Given the description of an element on the screen output the (x, y) to click on. 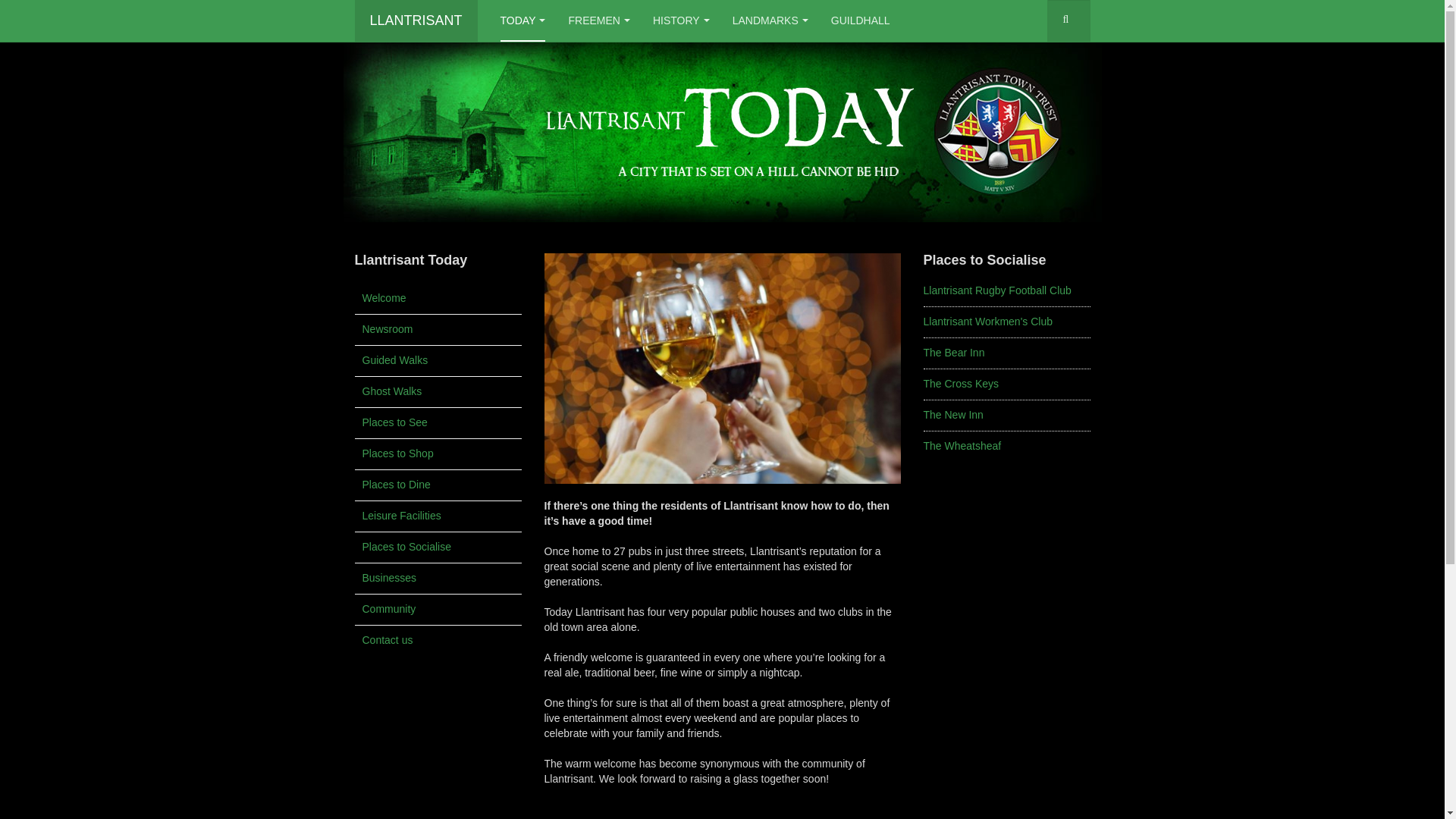
LLANTRISANT (416, 20)
Llantrisant (416, 20)
